Given the description of an element on the screen output the (x, y) to click on. 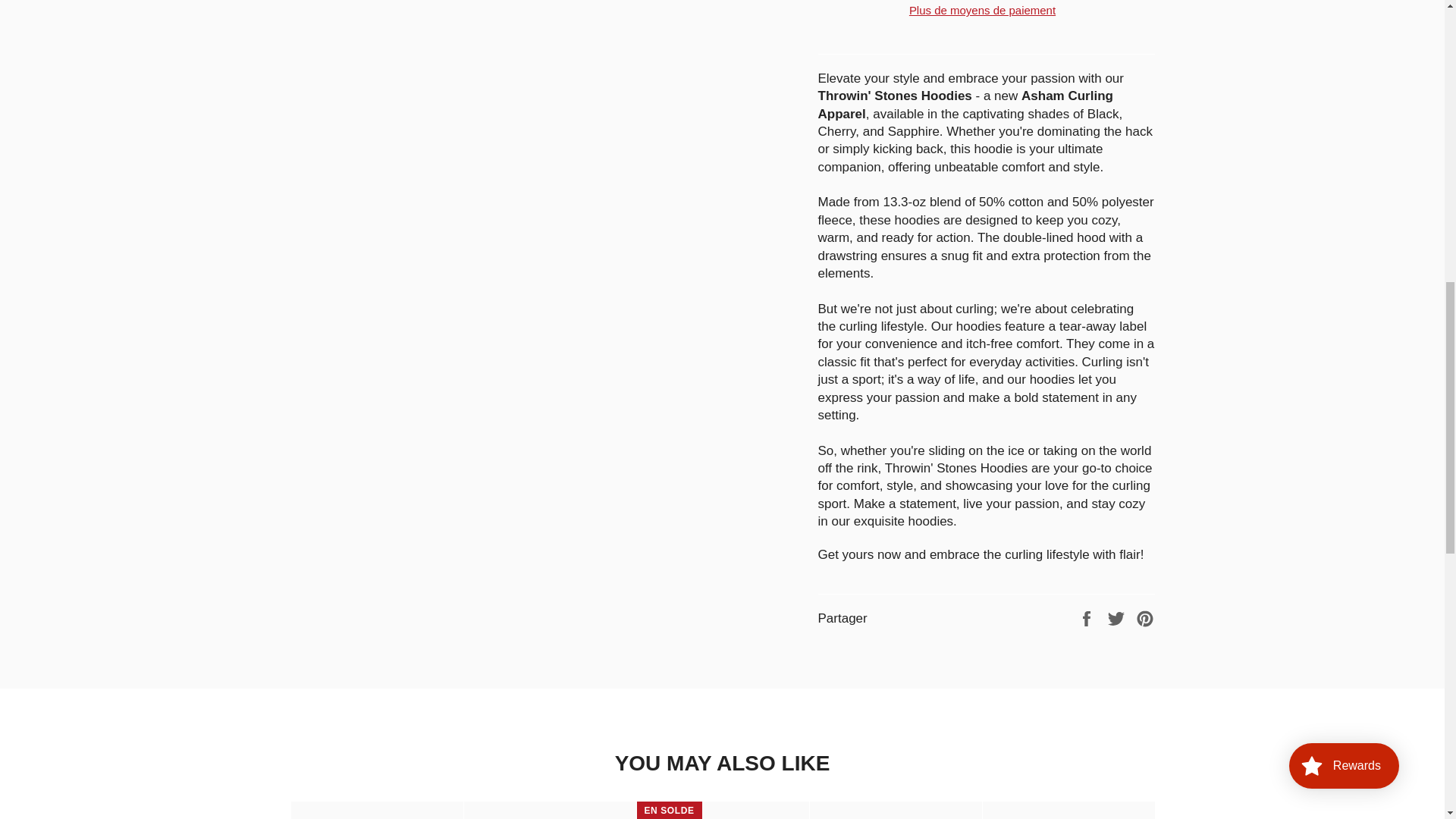
Tweeter sur Twitter (1117, 617)
Partager sur Facebook (1088, 617)
